Given the description of an element on the screen output the (x, y) to click on. 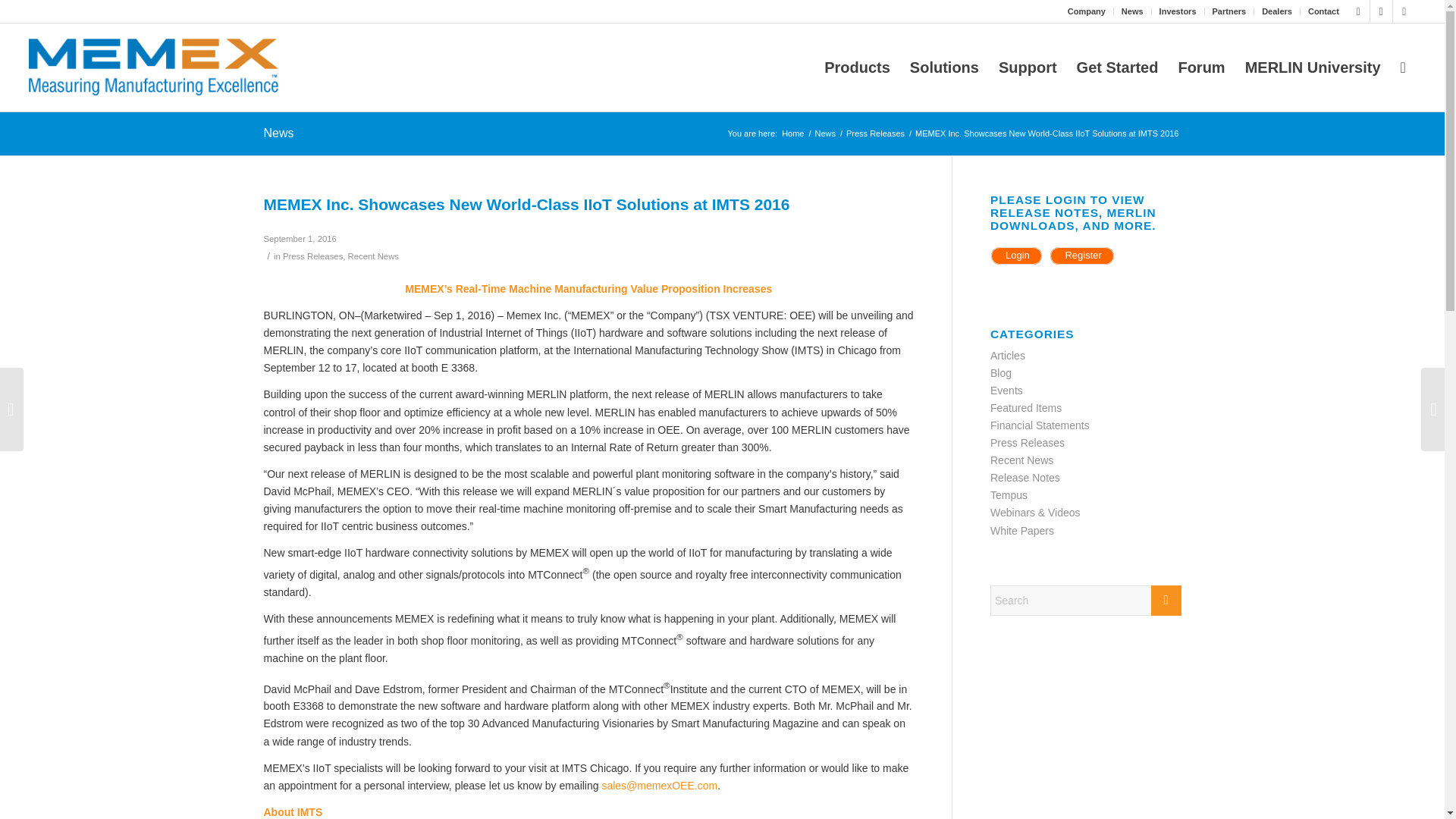
News (1131, 11)
Company (1086, 11)
X (1359, 11)
logo (153, 67)
Solutions (943, 67)
Youtube (1404, 11)
Permanent Link: News (278, 132)
Investors (1177, 11)
News (825, 133)
Products (856, 67)
Partners (1229, 11)
LinkedIn (1380, 11)
Dealers (1277, 11)
Contact (1323, 11)
Memex Inc. (792, 133)
